Given the description of an element on the screen output the (x, y) to click on. 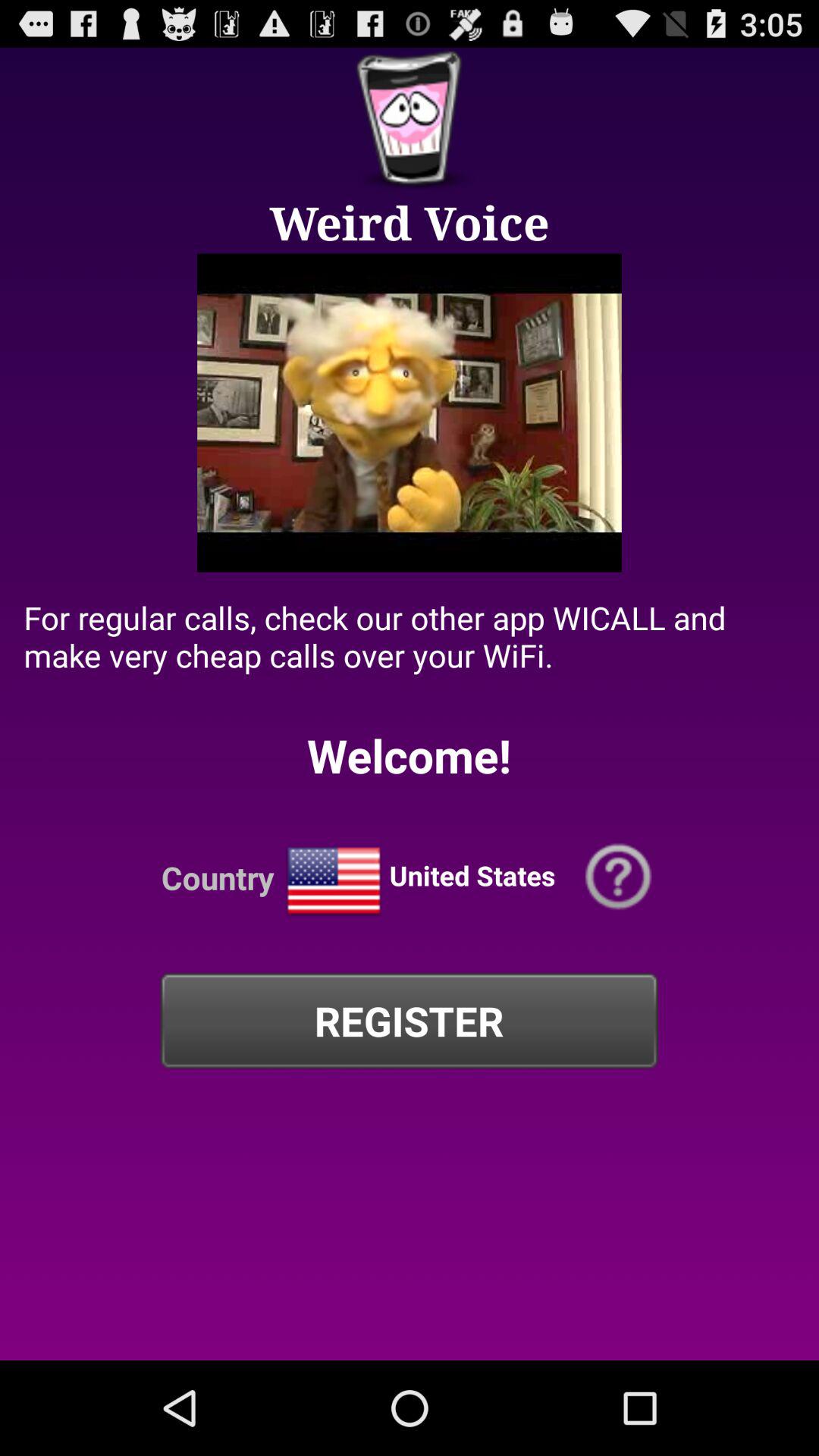
select country (333, 881)
